Given the description of an element on the screen output the (x, y) to click on. 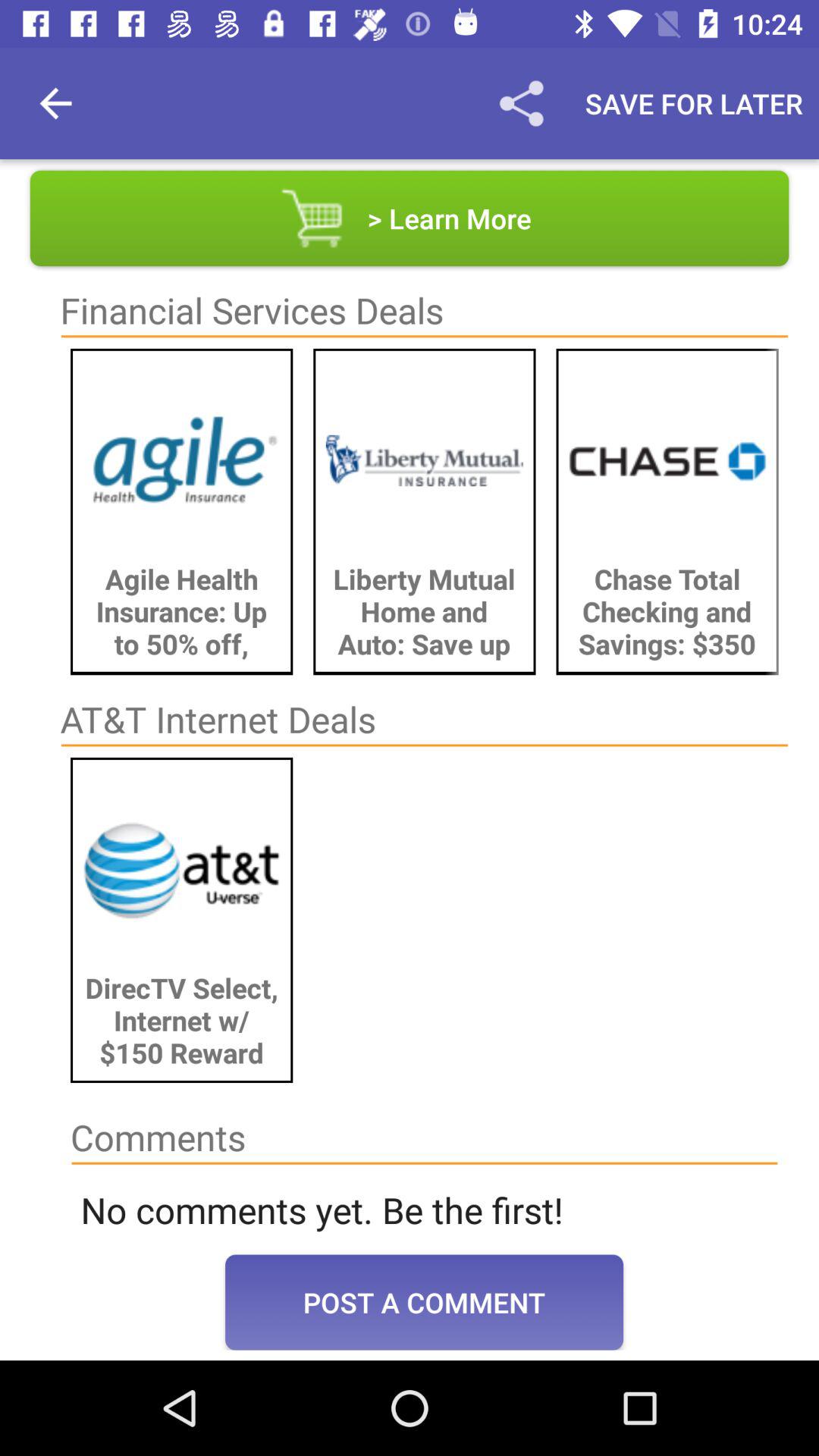
turn on item next to save for later icon (521, 103)
